Given the description of an element on the screen output the (x, y) to click on. 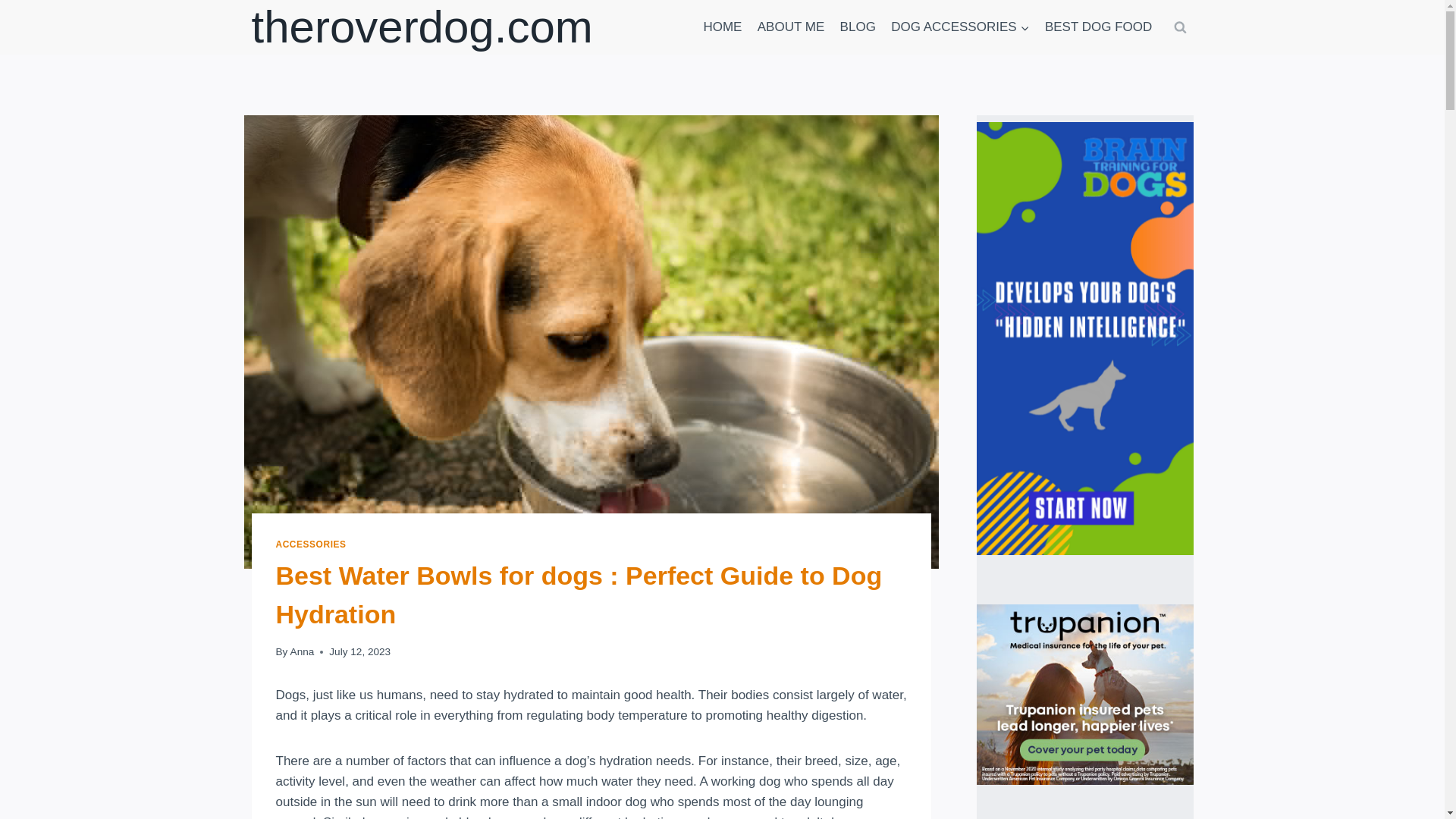
theroverdog.com (421, 27)
HOME (722, 27)
BEST DOG FOOD (1098, 27)
ACCESSORIES (311, 543)
BLOG (857, 27)
DOG ACCESSORIES (959, 27)
ABOUT ME (790, 27)
